Given the description of an element on the screen output the (x, y) to click on. 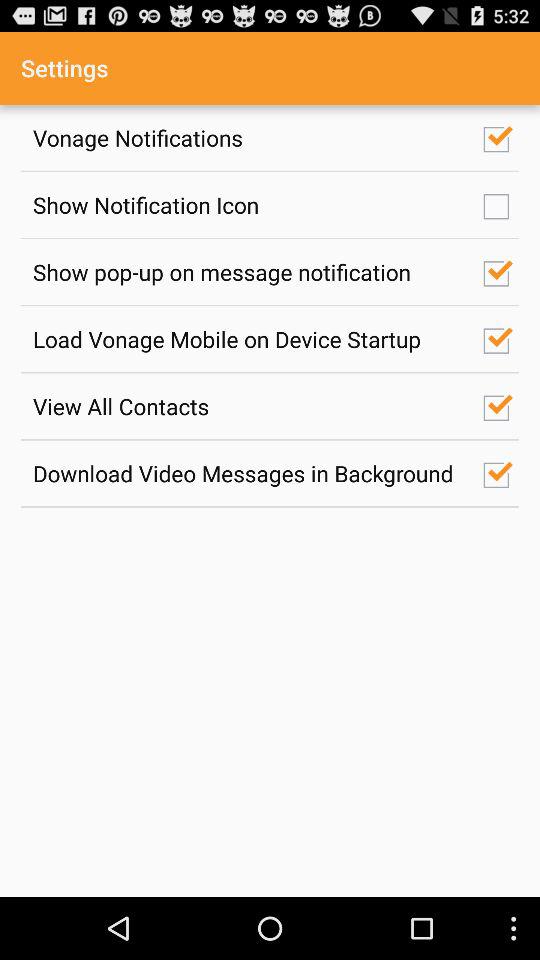
scroll to the show pop up icon (247, 271)
